Given the description of an element on the screen output the (x, y) to click on. 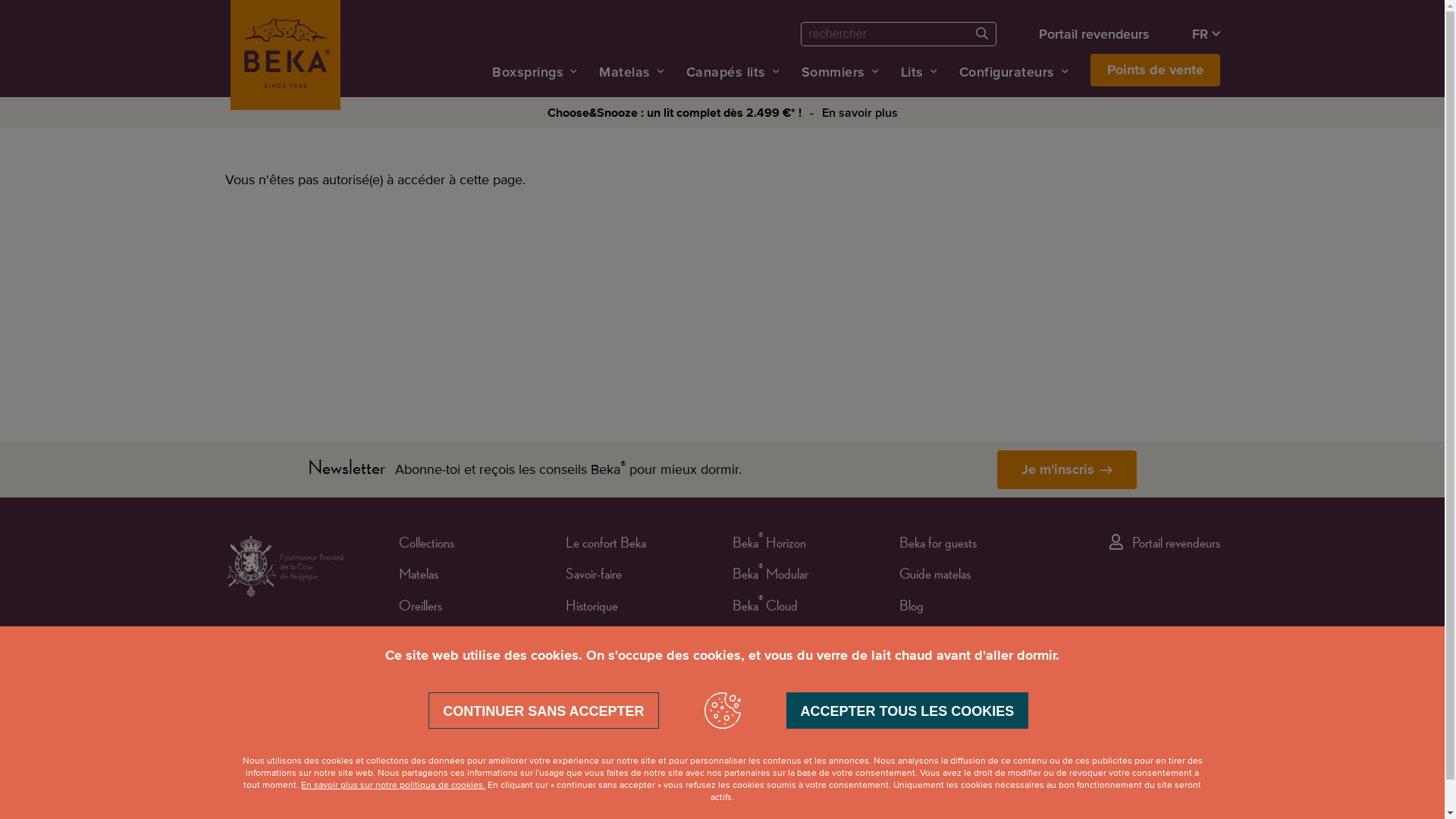
Cadres de lit Element type: text (430, 670)
Portail revendeurs Element type: text (1093, 33)
Aller au contenu principal Element type: text (0, 0)
Boxsprings Element type: text (527, 71)
beka-literie.fr Element type: text (930, 701)
Collections Element type: text (426, 545)
Lits Element type: text (911, 71)
Utilisation Element type: text (589, 670)
Matelas Element type: text (624, 71)
CONTINUER SANS ACCEPTER Element type: text (543, 710)
Blog Element type: text (911, 608)
Portail revendeurs Element type: text (1164, 545)
Accessoires Element type: text (427, 732)
Beka for guests Element type: text (937, 545)
Le confort Beka Element type: text (605, 545)
Savoir-faire Element type: text (593, 576)
Oreillers Element type: text (420, 608)
Garanties et services Element type: text (616, 639)
Spotify Element type: text (1213, 759)
Points de vente Element type: text (1155, 69)
Guide matelas Element type: text (934, 576)
FR Element type: text (1206, 33)
Boxsprings Element type: text (425, 639)
Je m'inscris Element type: text (1066, 469)
Configurateurs Element type: text (1006, 71)
Pinterest Element type: text (1170, 759)
Matelas Element type: text (418, 576)
Facebook Element type: text (1152, 759)
Points de vente Element type: text (937, 639)
Historique Element type: text (591, 608)
ACCEPTER TOUS LES COOKIES Element type: text (906, 710)
Sommiers Element type: text (832, 71)
En savoir plus sur notre politique de cookies. Element type: text (393, 784)
Instagram Element type: text (1192, 759)
Contacts Element type: text (588, 701)
bekabedden.nl Element type: text (934, 670)
